Given the description of an element on the screen output the (x, y) to click on. 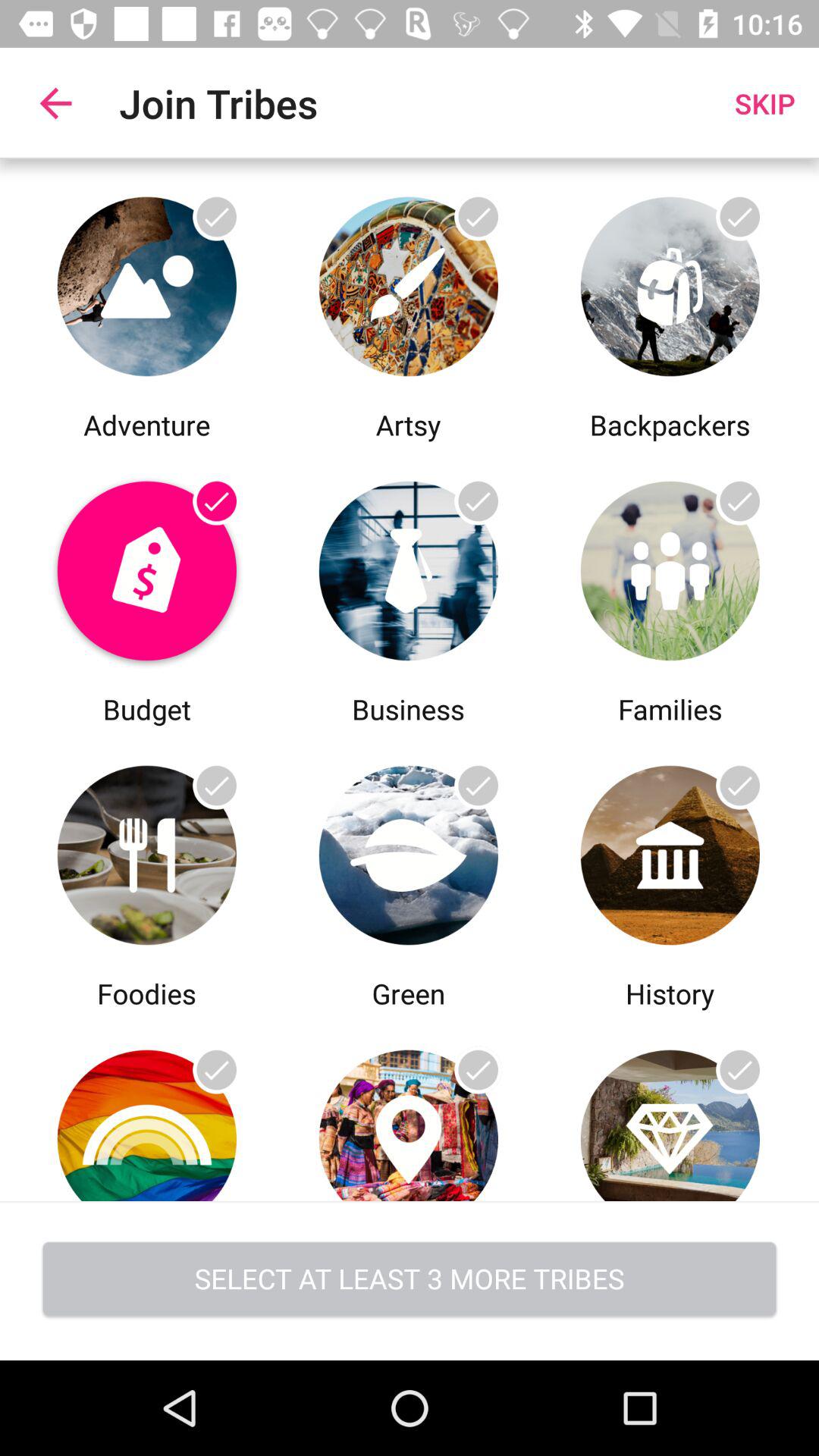
choose green tribe (408, 851)
